Given the description of an element on the screen output the (x, y) to click on. 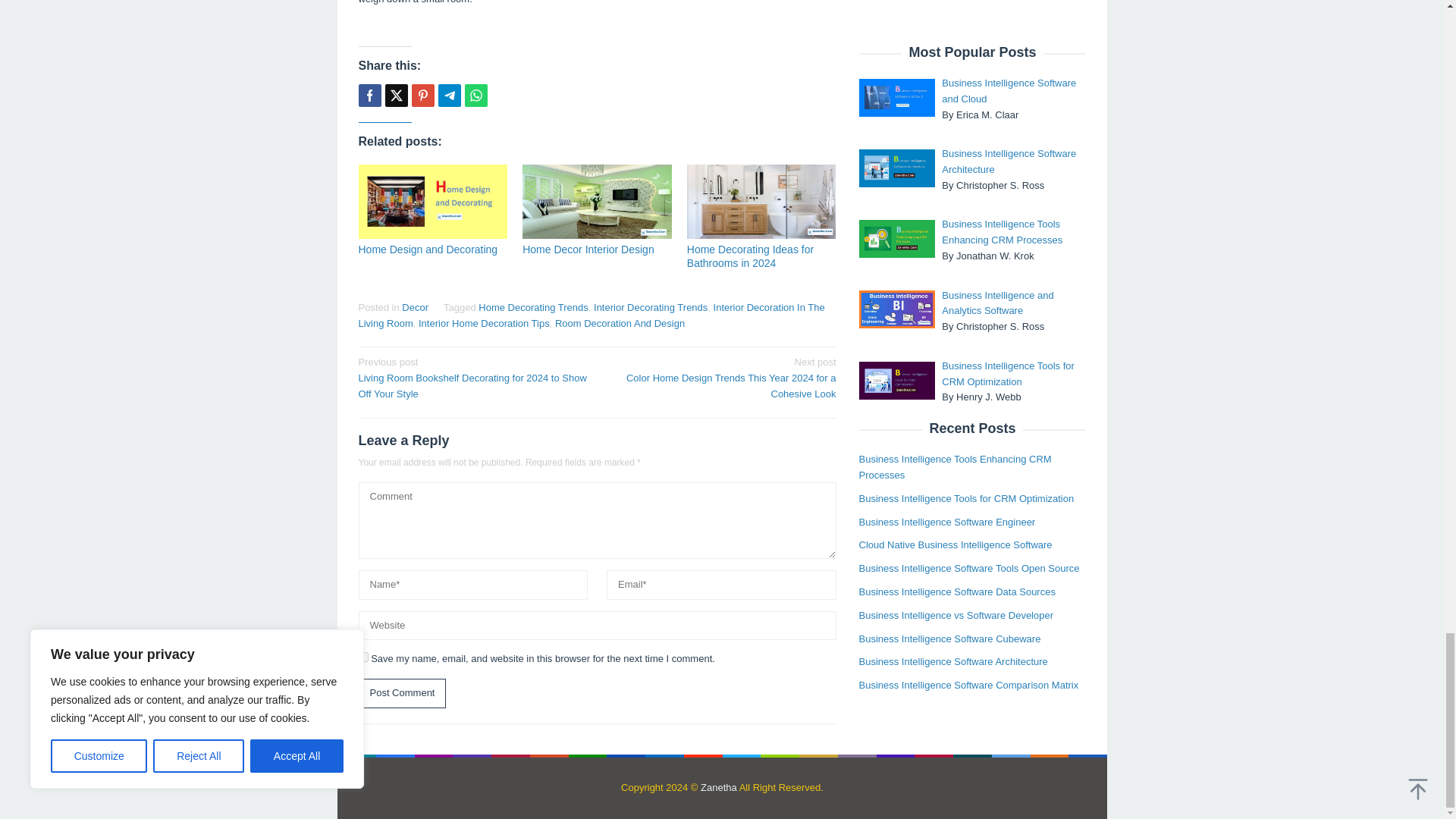
Post Comment (401, 693)
Share this (369, 95)
Tweet this (396, 95)
yes (363, 656)
